Given the description of an element on the screen output the (x, y) to click on. 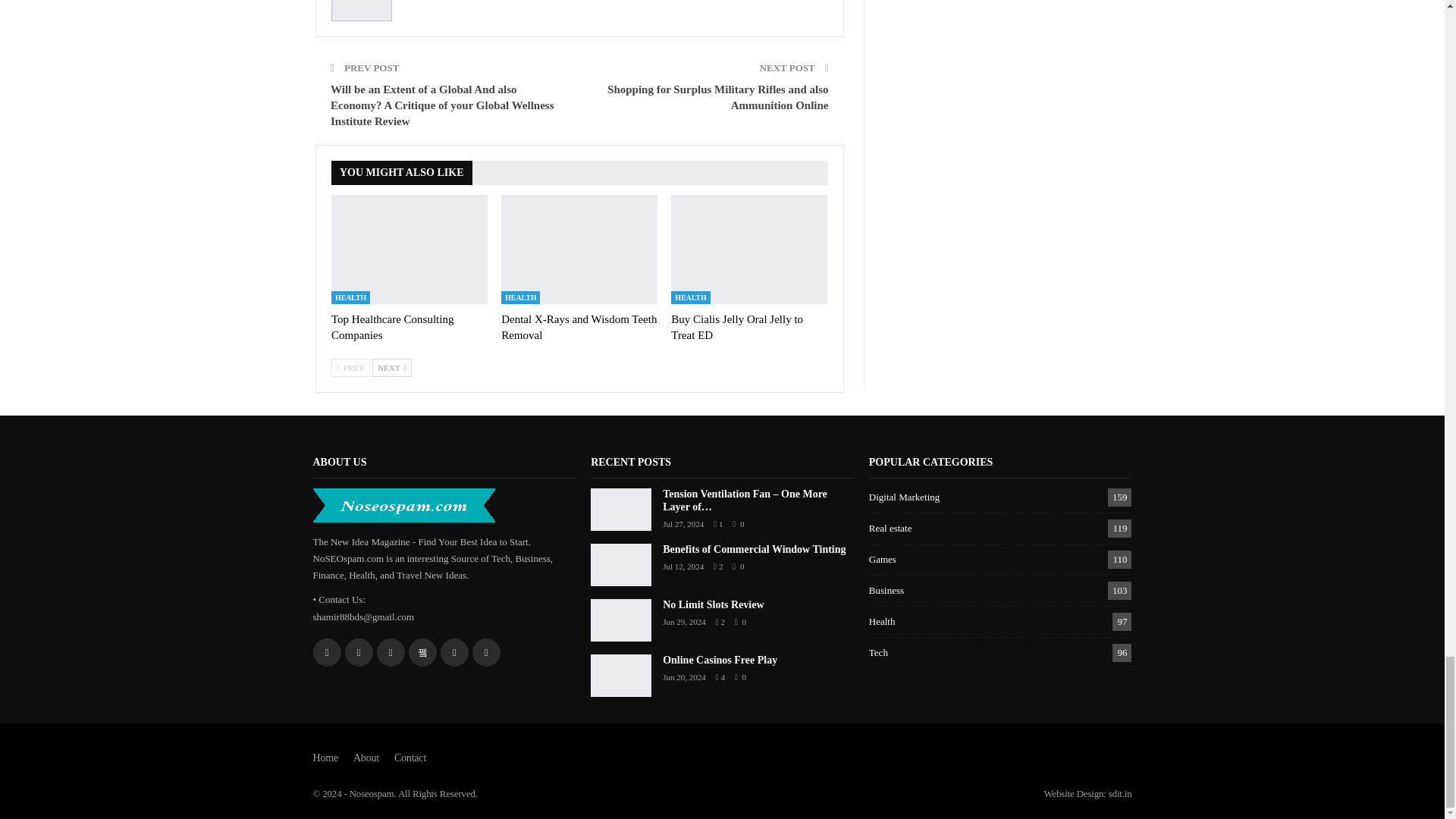
Dental X-Rays and Wisdom Teeth Removal (578, 326)
Top Healthcare Consulting Companies (391, 326)
Top Healthcare Consulting Companies (409, 248)
Dental X-Rays and Wisdom Teeth Removal (579, 248)
Buy Cialis Jelly Oral Jelly to Treat ED (737, 326)
Buy Cialis Jelly Oral Jelly to Treat ED (749, 248)
